Given the description of an element on the screen output the (x, y) to click on. 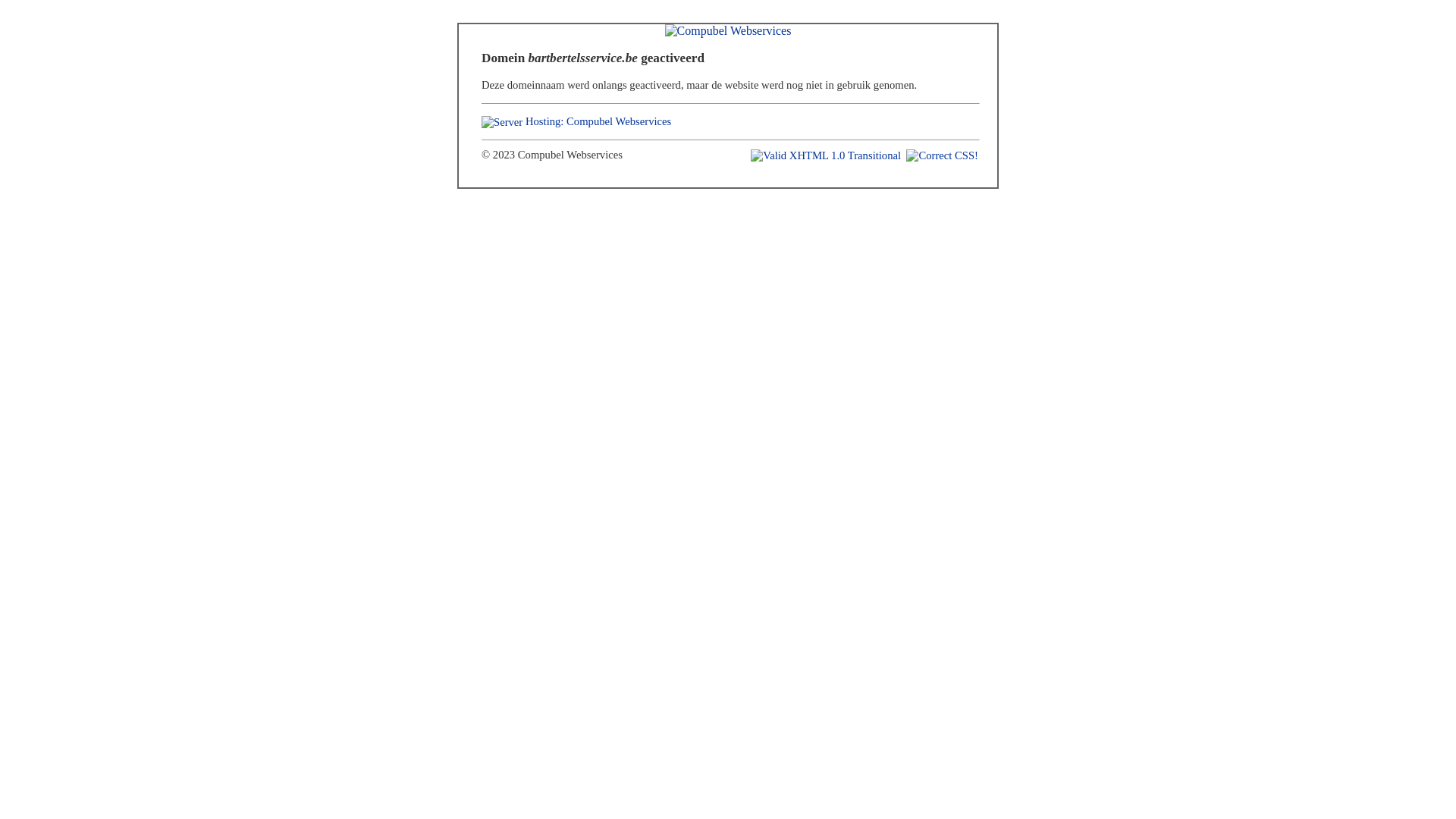
Hosted by Compubel Webservices Element type: hover (501, 122)
Hosting: Compubel Webservices Element type: text (598, 121)
